Given the description of an element on the screen output the (x, y) to click on. 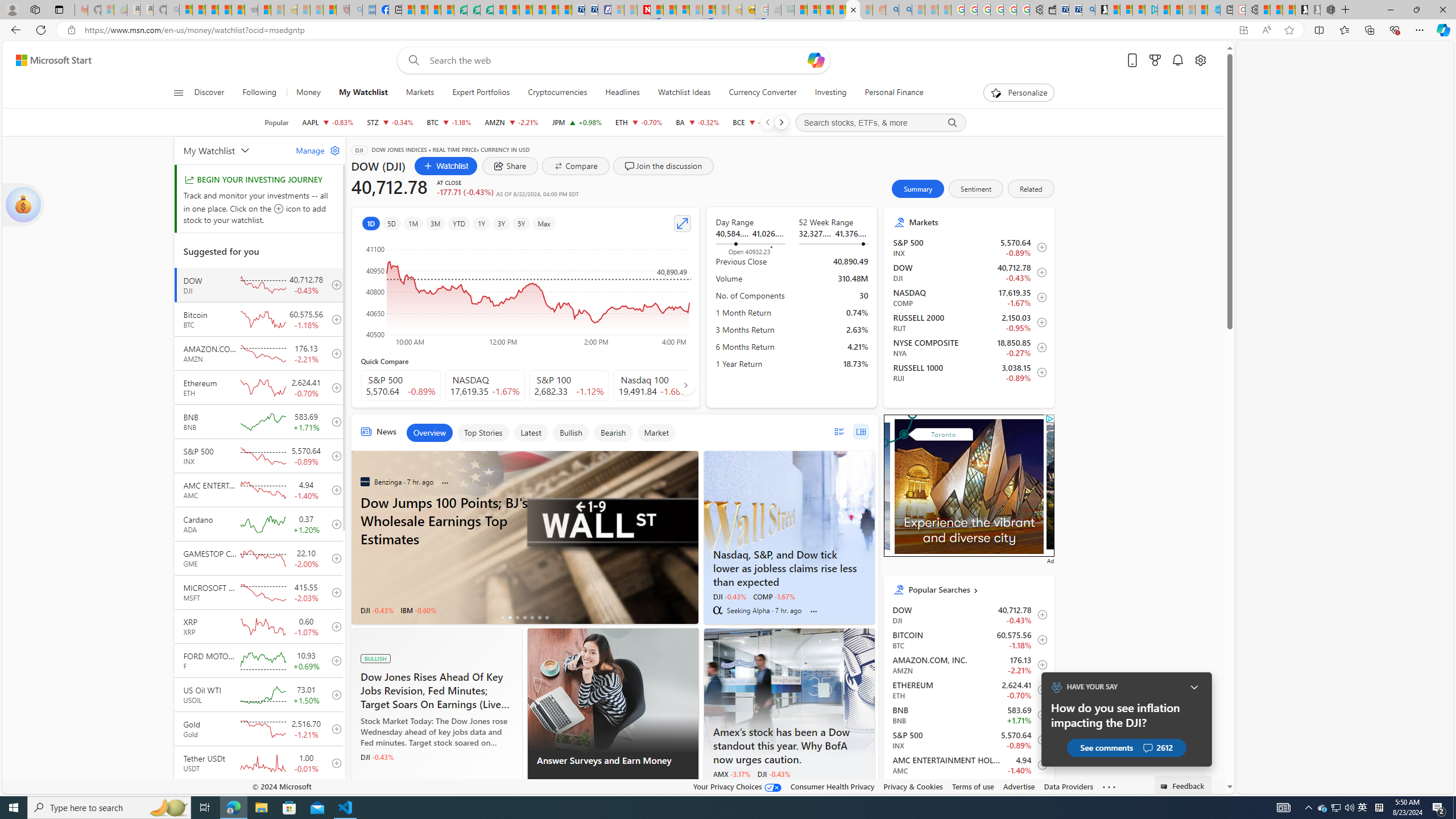
Previous (767, 122)
list layout (839, 431)
Personal Finance (893, 92)
ADA Cardano increase 0.37 +0.00 +1.20% itemundefined (968, 789)
DJI DOW decrease 40,712.78 -177.71 -0.43% itemundefined (968, 614)
AutomationID: bg4 (1130, 485)
1Y (480, 223)
Summary (917, 188)
